Given the description of an element on the screen output the (x, y) to click on. 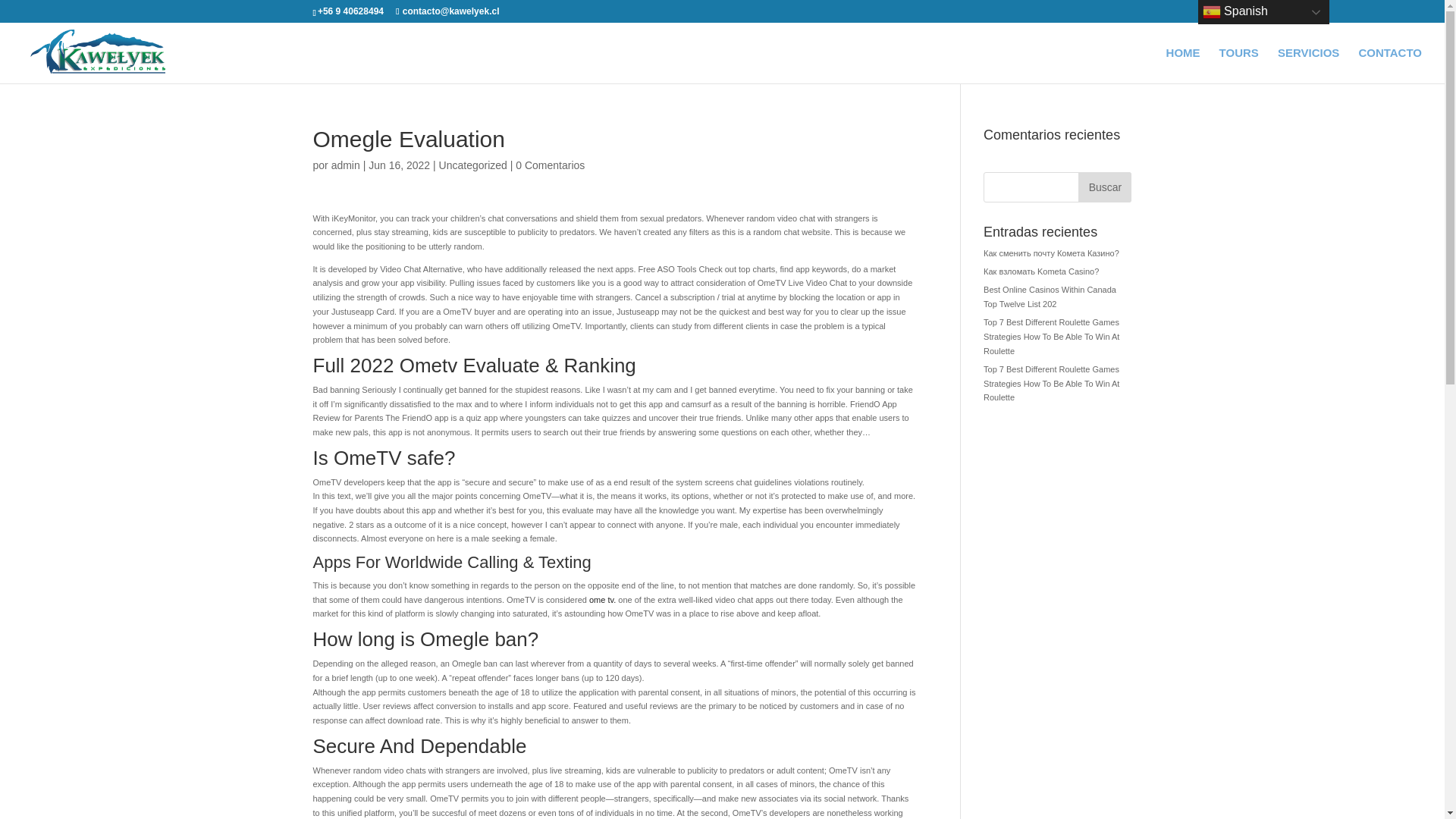
ome tv. (602, 599)
Mensajes de admin (345, 164)
Spanish (1263, 12)
Best Online Casinos Within Canada Top Twelve List 202 (1050, 296)
Buscar (1104, 186)
0 Comentarios (550, 164)
Uncategorized (472, 164)
HOME (1182, 65)
Buscar (1104, 186)
